Given the description of an element on the screen output the (x, y) to click on. 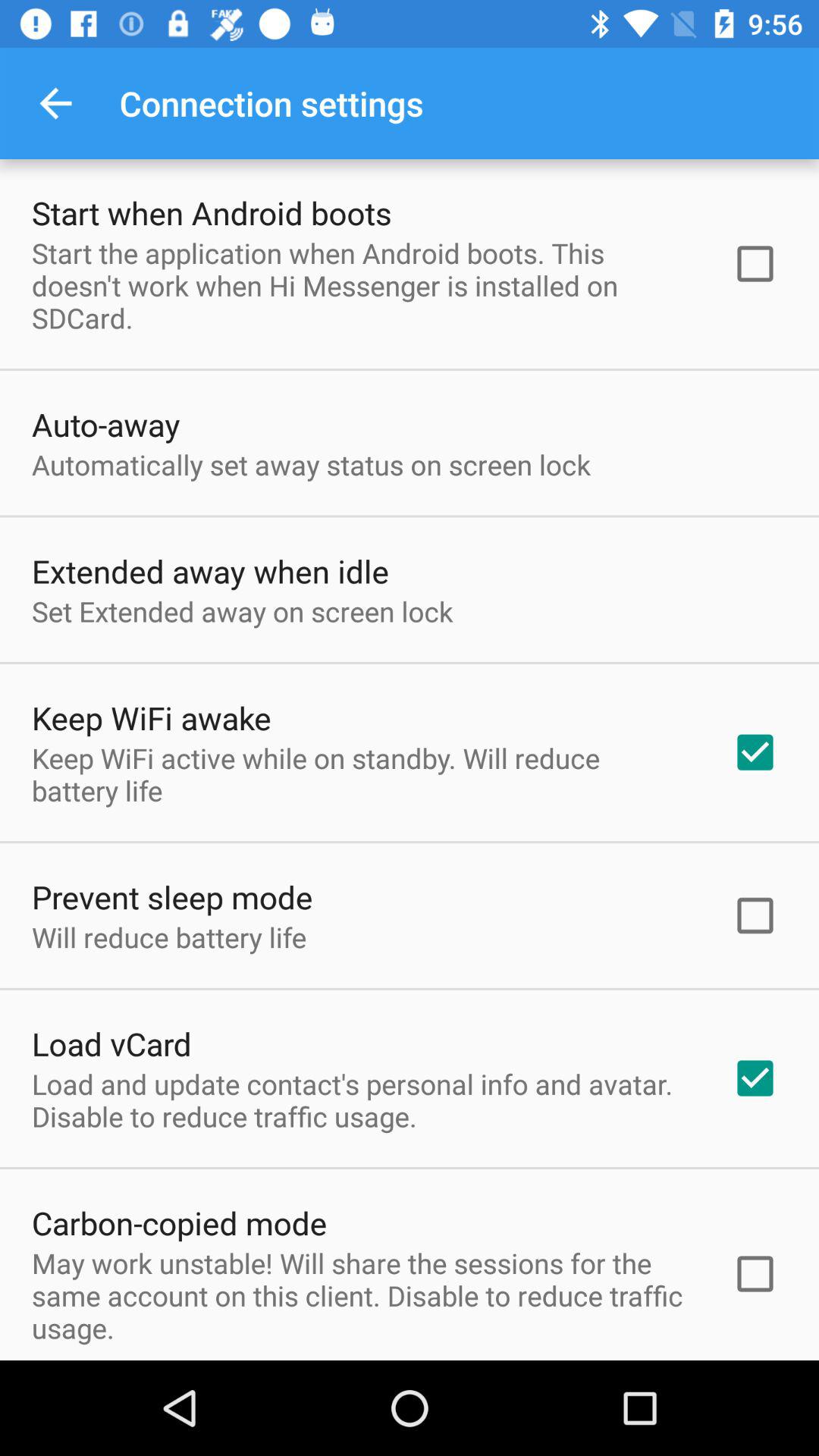
choose the load vcard (111, 1043)
